Given the description of an element on the screen output the (x, y) to click on. 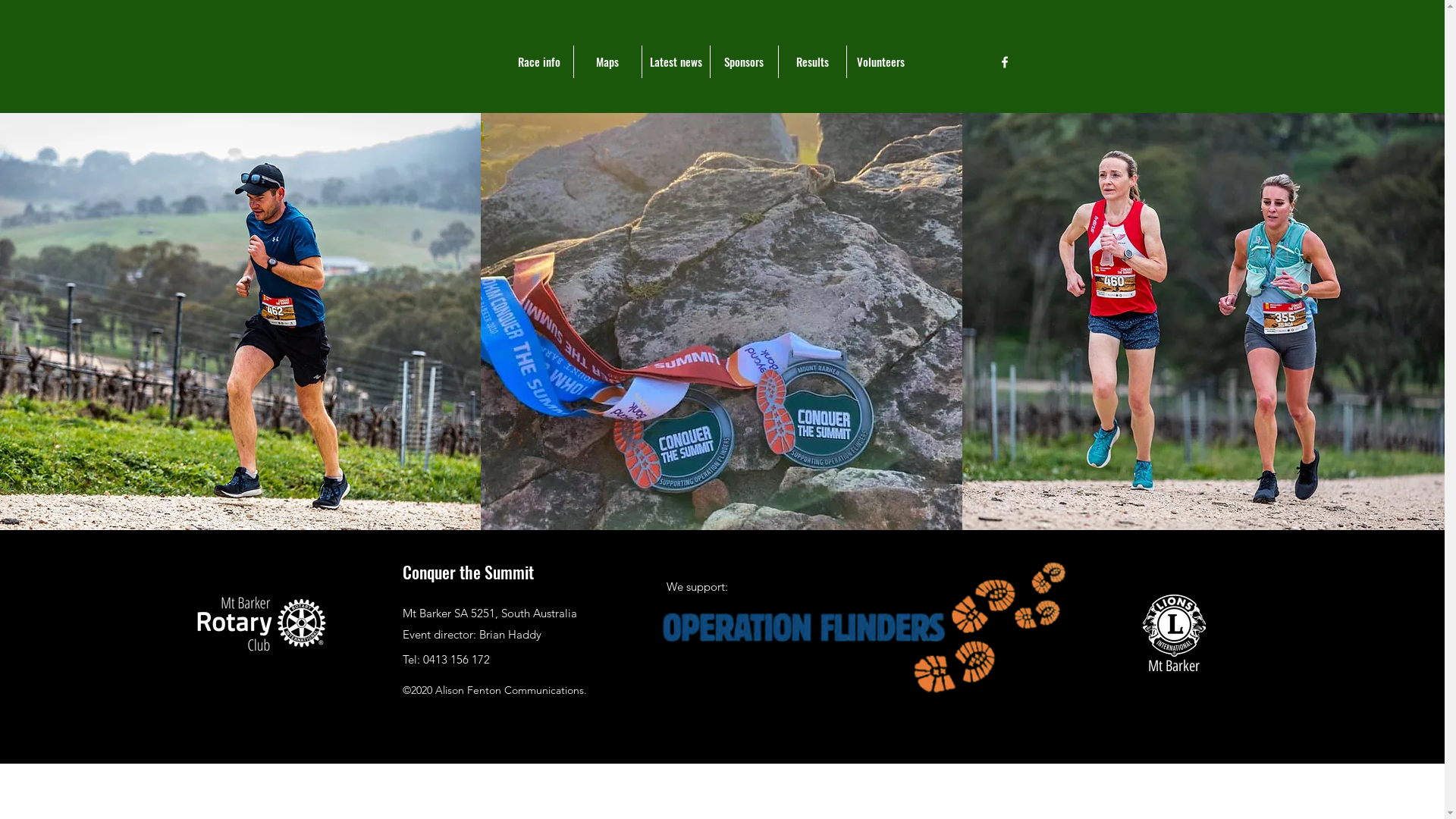
Maps Element type: text (607, 61)
Sponsors Element type: text (743, 61)
Alison Fenton Communications. Element type: text (510, 689)
Results Element type: text (812, 61)
Volunteers Element type: text (880, 61)
Latest news Element type: text (675, 61)
Race info Element type: text (539, 61)
